Given the description of an element on the screen output the (x, y) to click on. 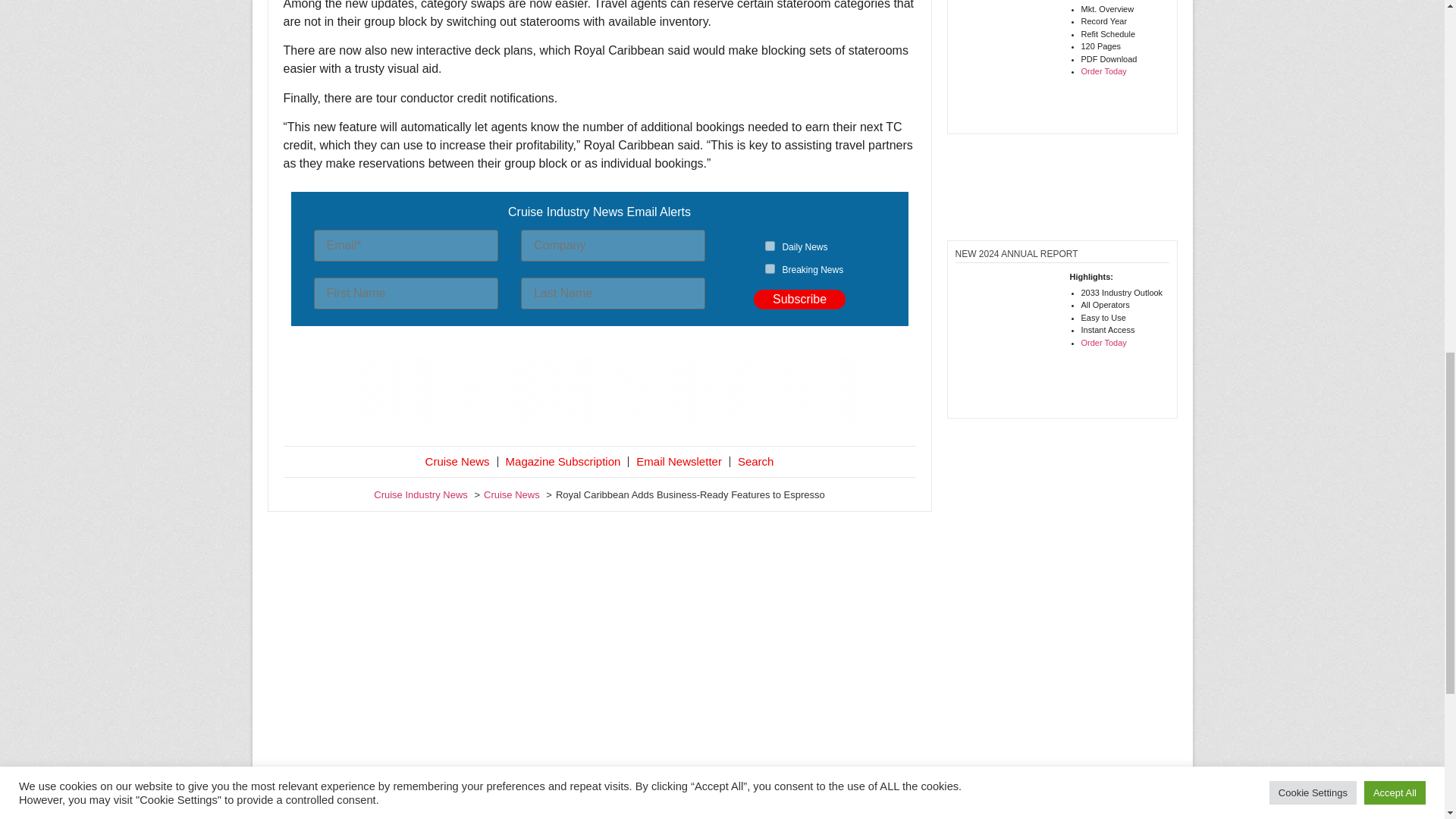
3rd party ad content (599, 388)
Subscribe (799, 299)
1 (769, 245)
2 (769, 268)
